Given the description of an element on the screen output the (x, y) to click on. 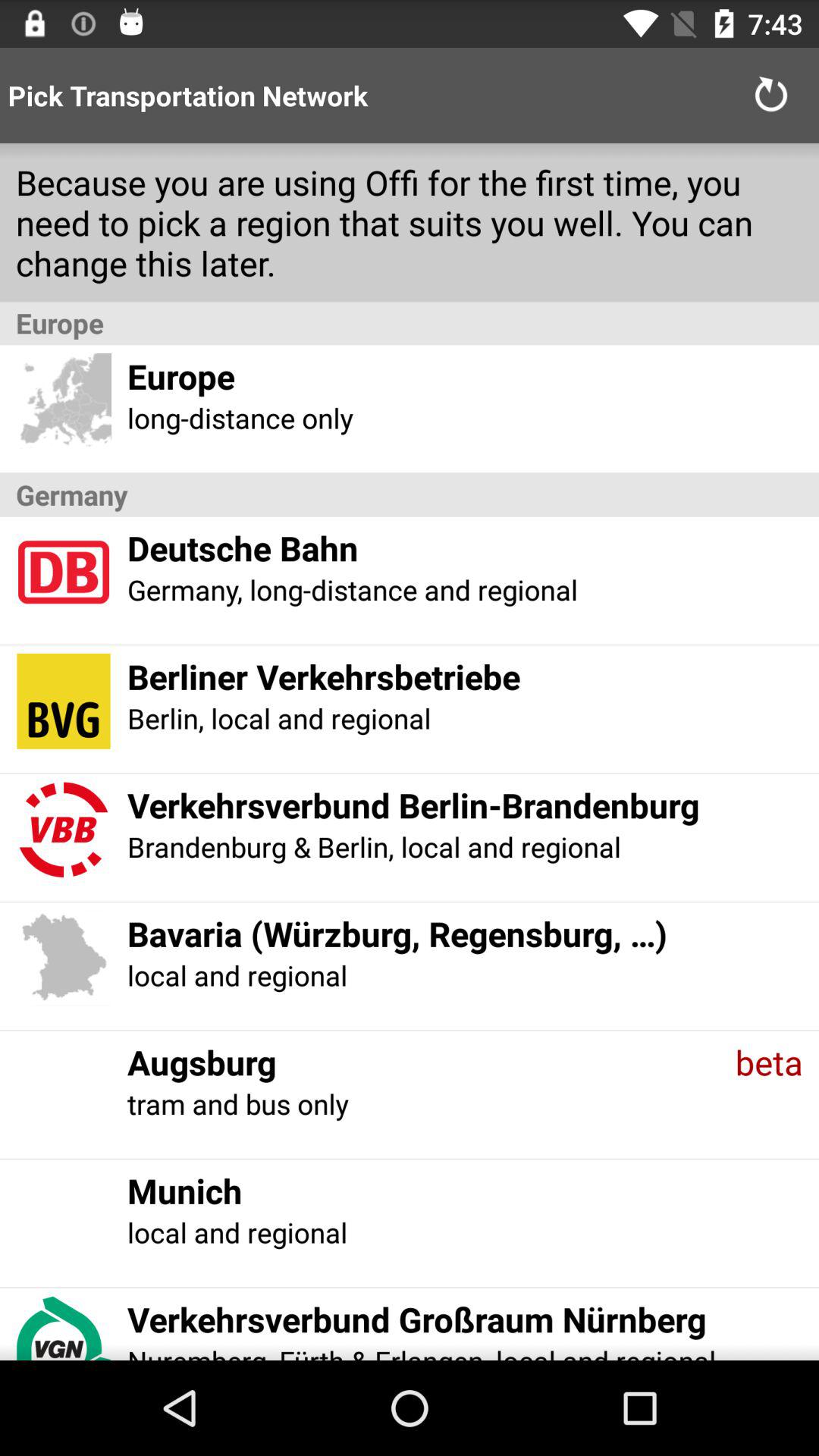
press item above because you are app (771, 95)
